Given the description of an element on the screen output the (x, y) to click on. 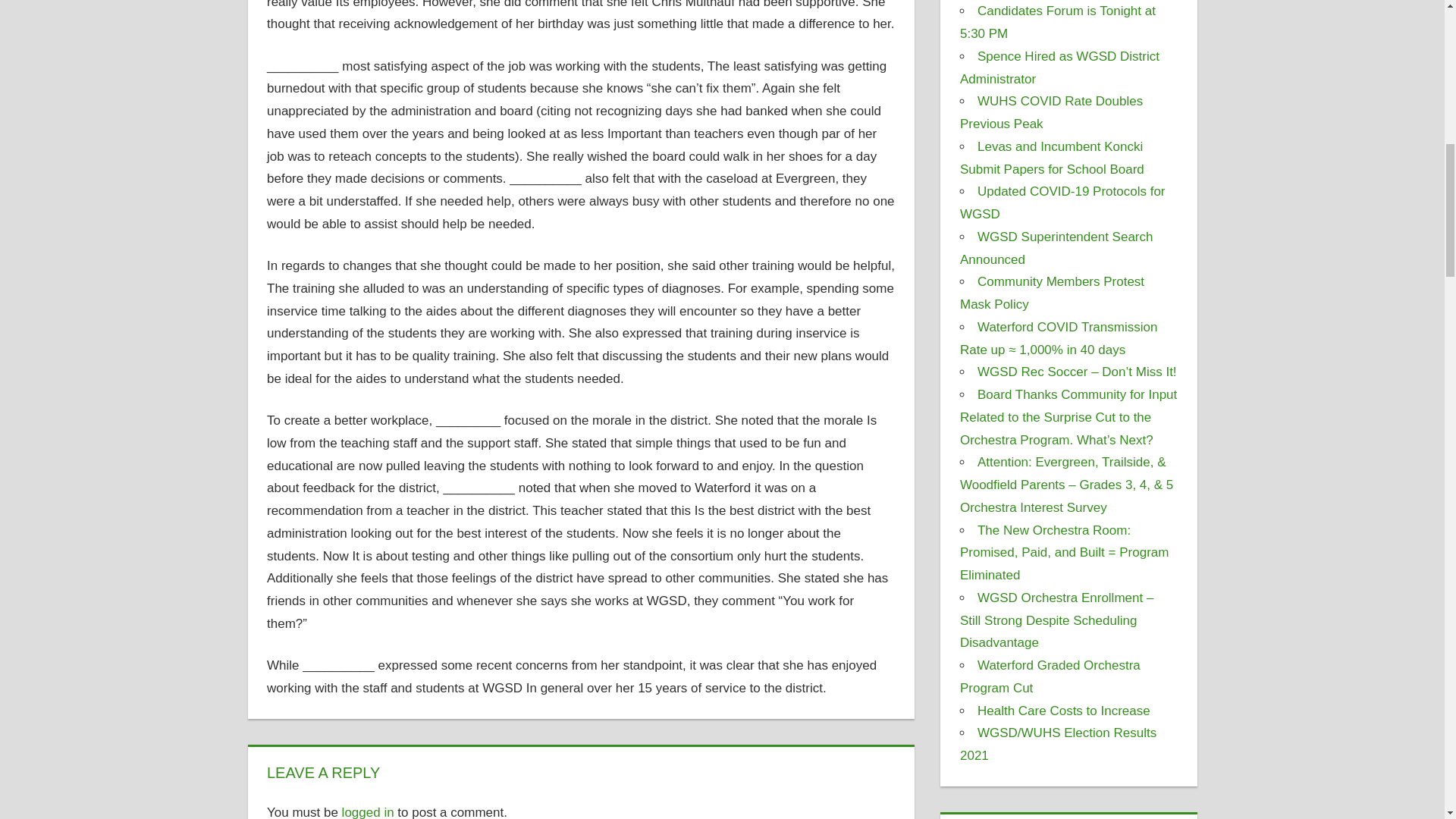
WUHS COVID Rate Doubles Previous Peak (1050, 112)
Spence Hired as WGSD District Administrator (1058, 67)
Community Members Protest Mask Policy (1051, 293)
Candidates Forum is Tonight at 5:30 PM (1057, 22)
Levas and Incumbent Koncki Submit Papers for School Board (1051, 157)
WGSD Superintendent Search Announced (1056, 248)
Health Care Costs to Increase (1063, 710)
logged in (368, 812)
Waterford Graded Orchestra Program Cut (1049, 676)
Updated COVID-19 Protocols for WGSD (1062, 202)
